Given the description of an element on the screen output the (x, y) to click on. 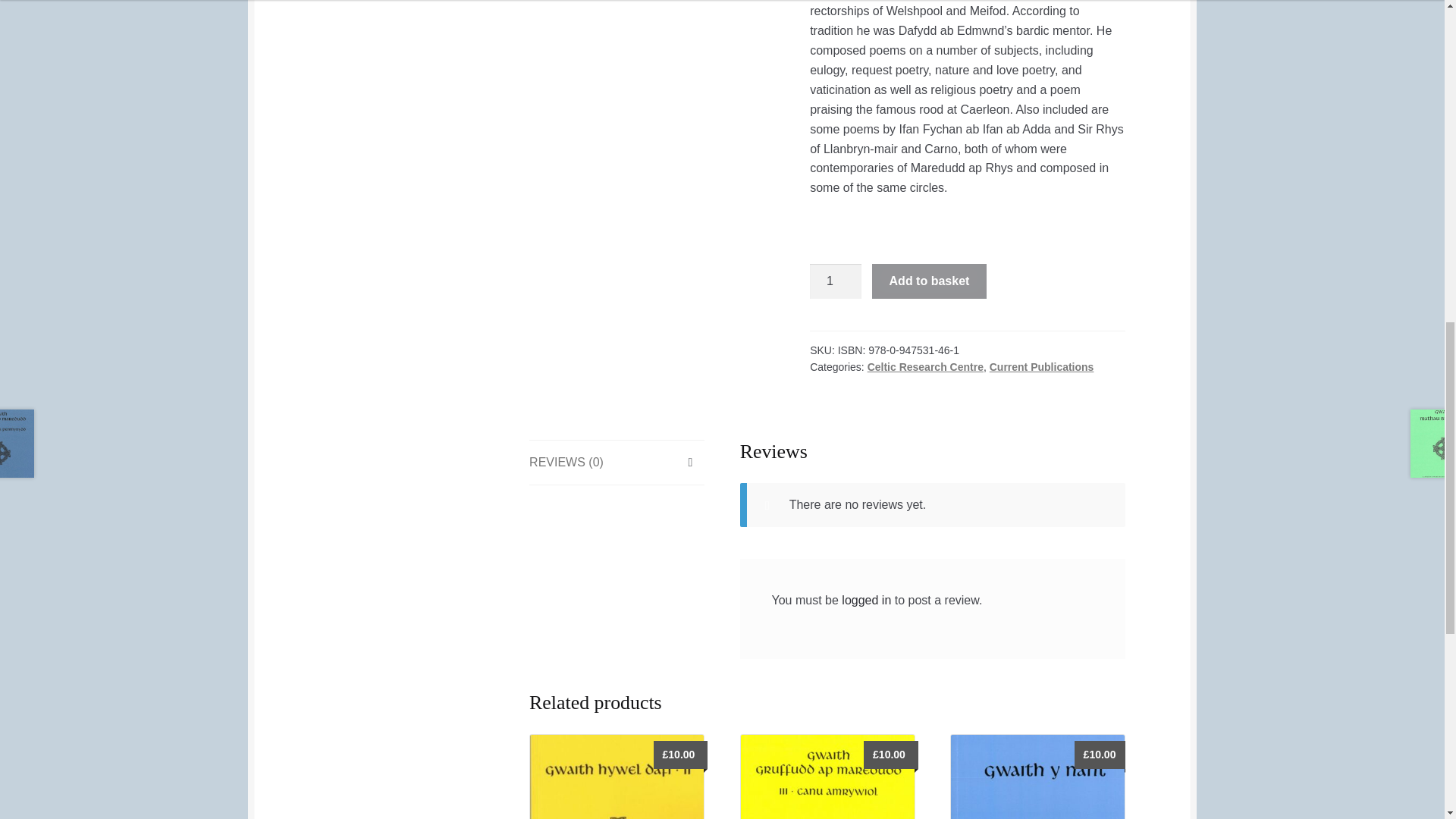
Celtic Research Centre (925, 367)
Add to basket (929, 280)
1 (835, 280)
logged in (866, 599)
Current Publications (1042, 367)
